Given the description of an element on the screen output the (x, y) to click on. 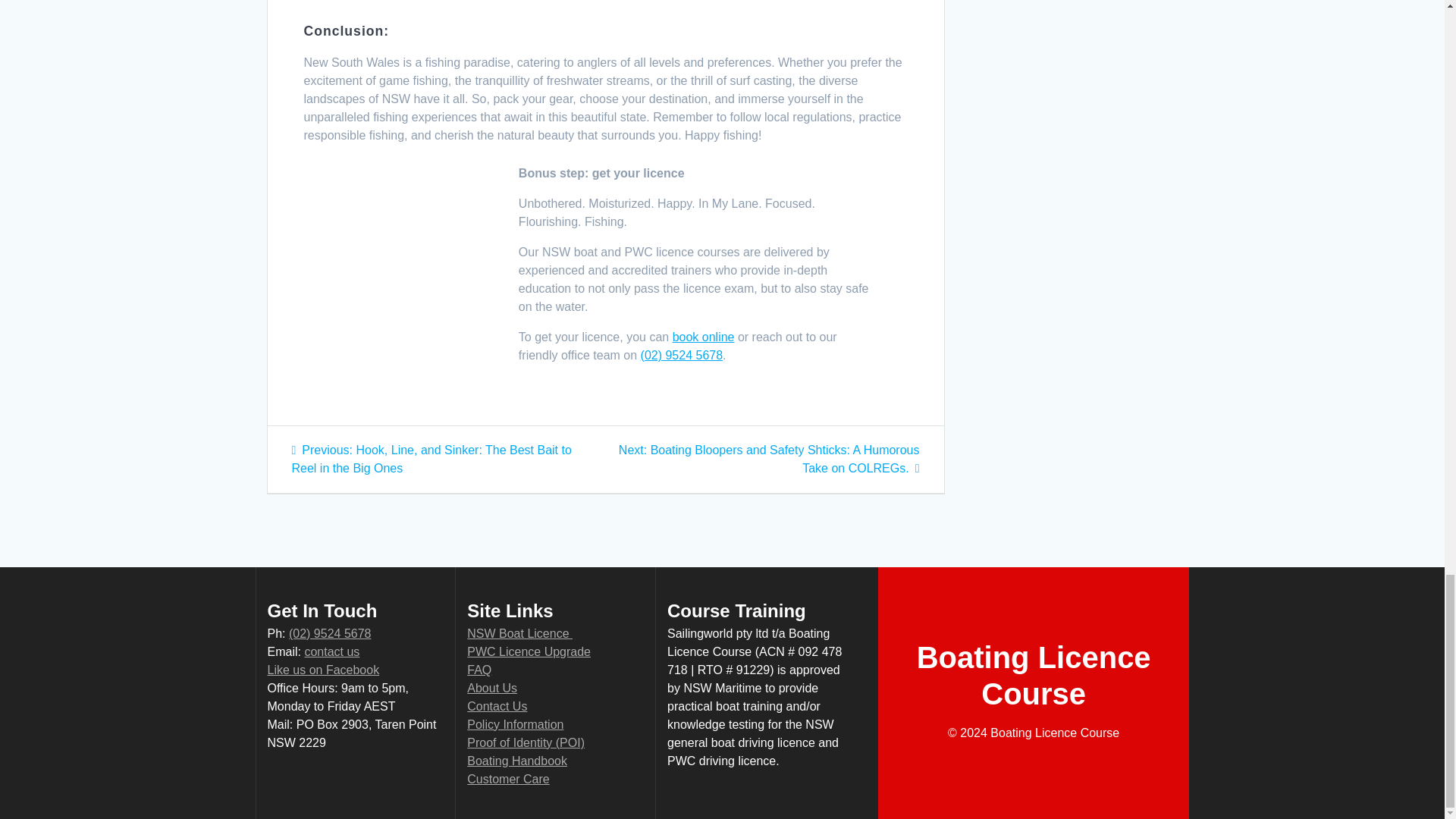
book online (703, 336)
